Given the description of an element on the screen output the (x, y) to click on. 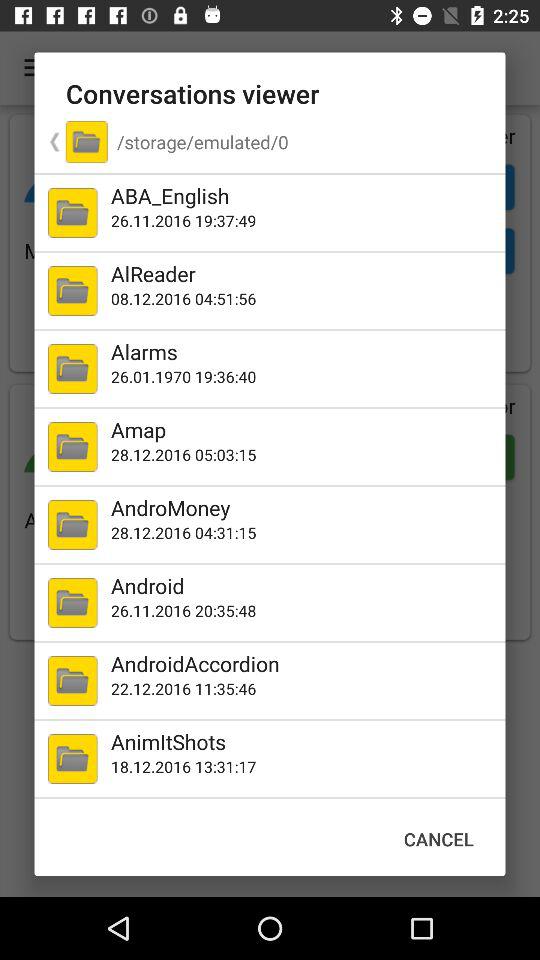
jump until cancel (438, 838)
